Given the description of an element on the screen output the (x, y) to click on. 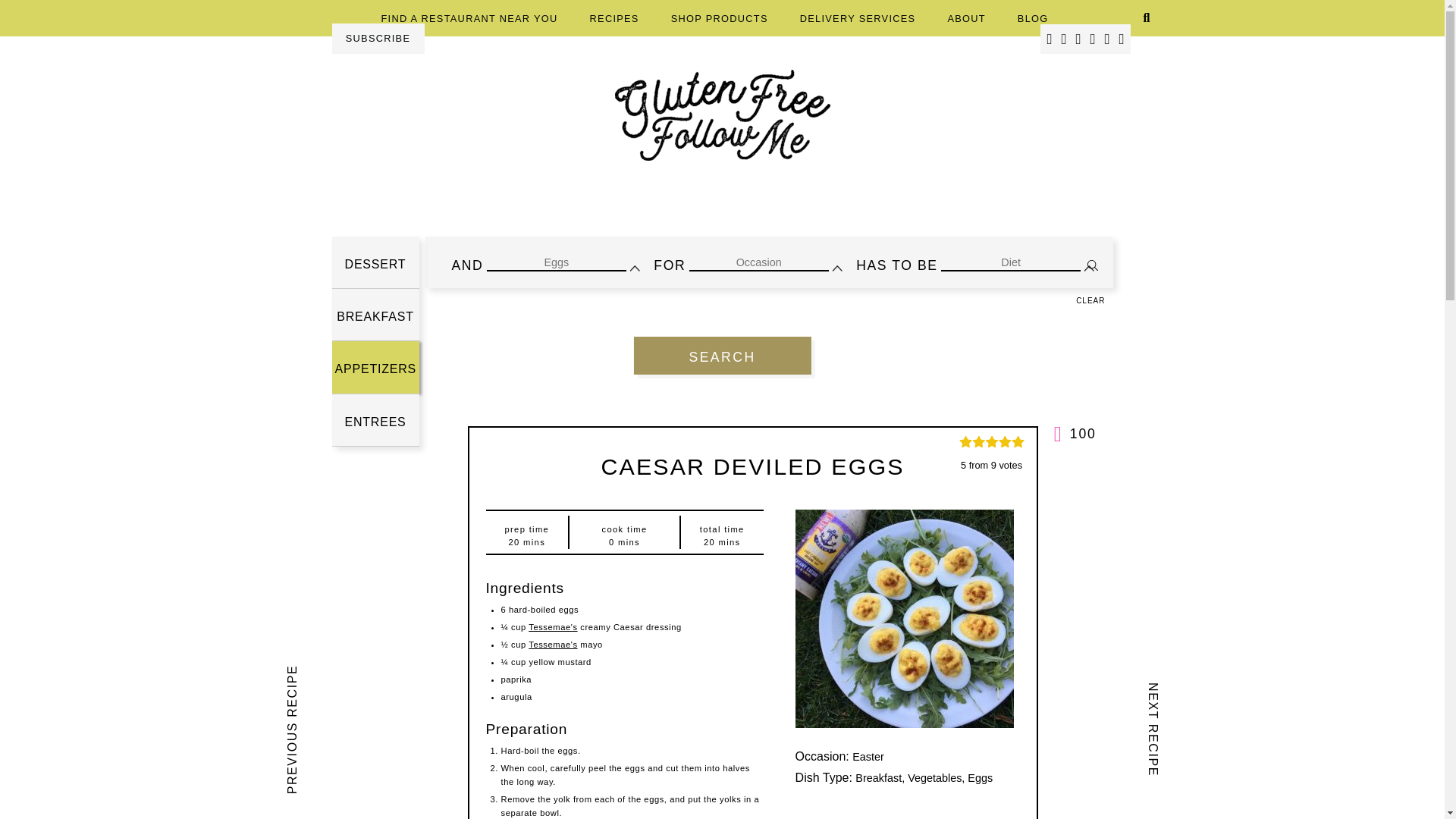
SHOP PRODUCTS (719, 18)
Like this (1075, 433)
RECIPES (614, 18)
DELIVERY SERVICES (857, 18)
ABOUT (966, 18)
Eggs (556, 262)
FIND A RESTAURANT NEAR YOU (468, 18)
